Given the description of an element on the screen output the (x, y) to click on. 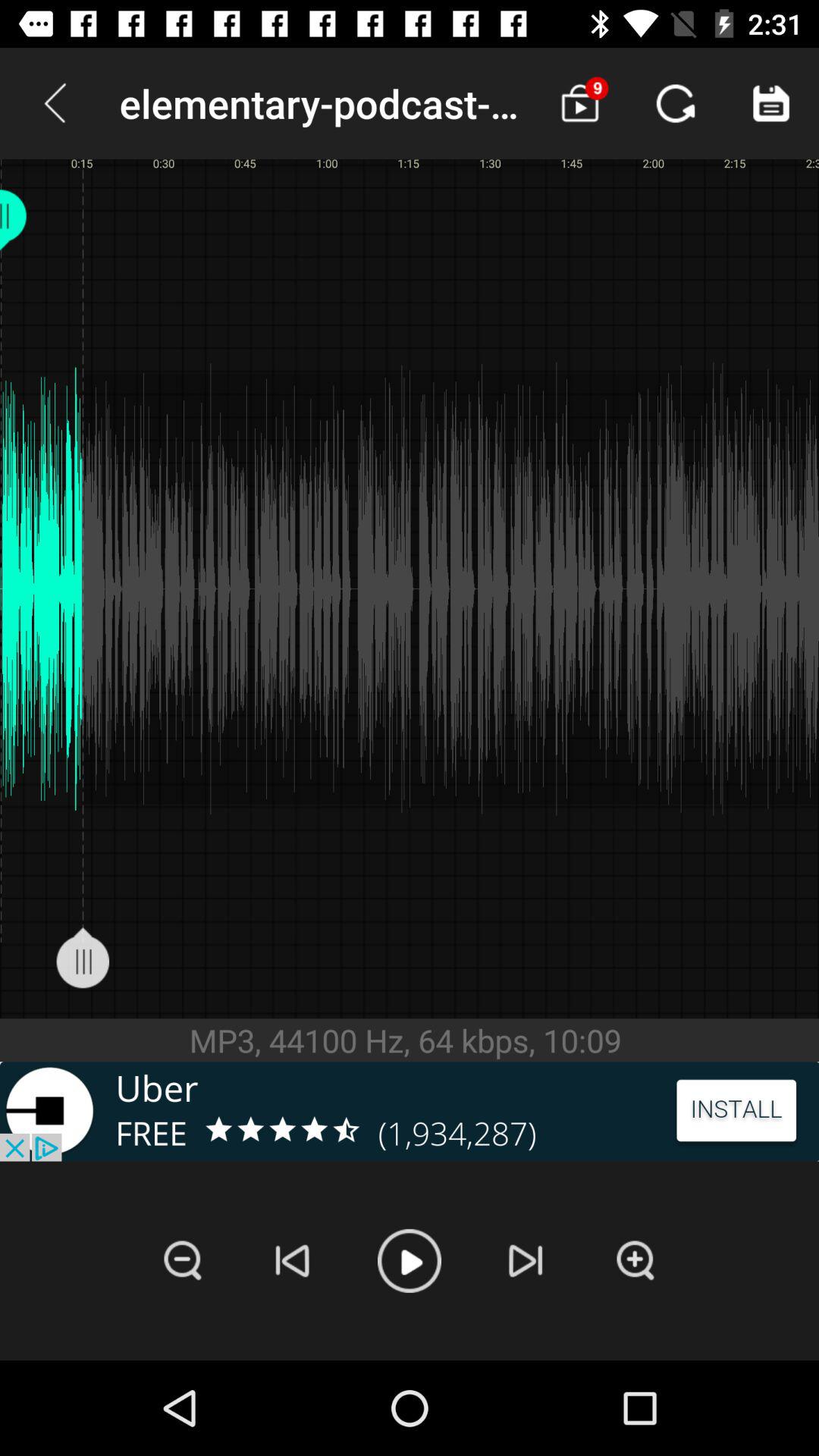
go to previous (292, 1260)
